Given the description of an element on the screen output the (x, y) to click on. 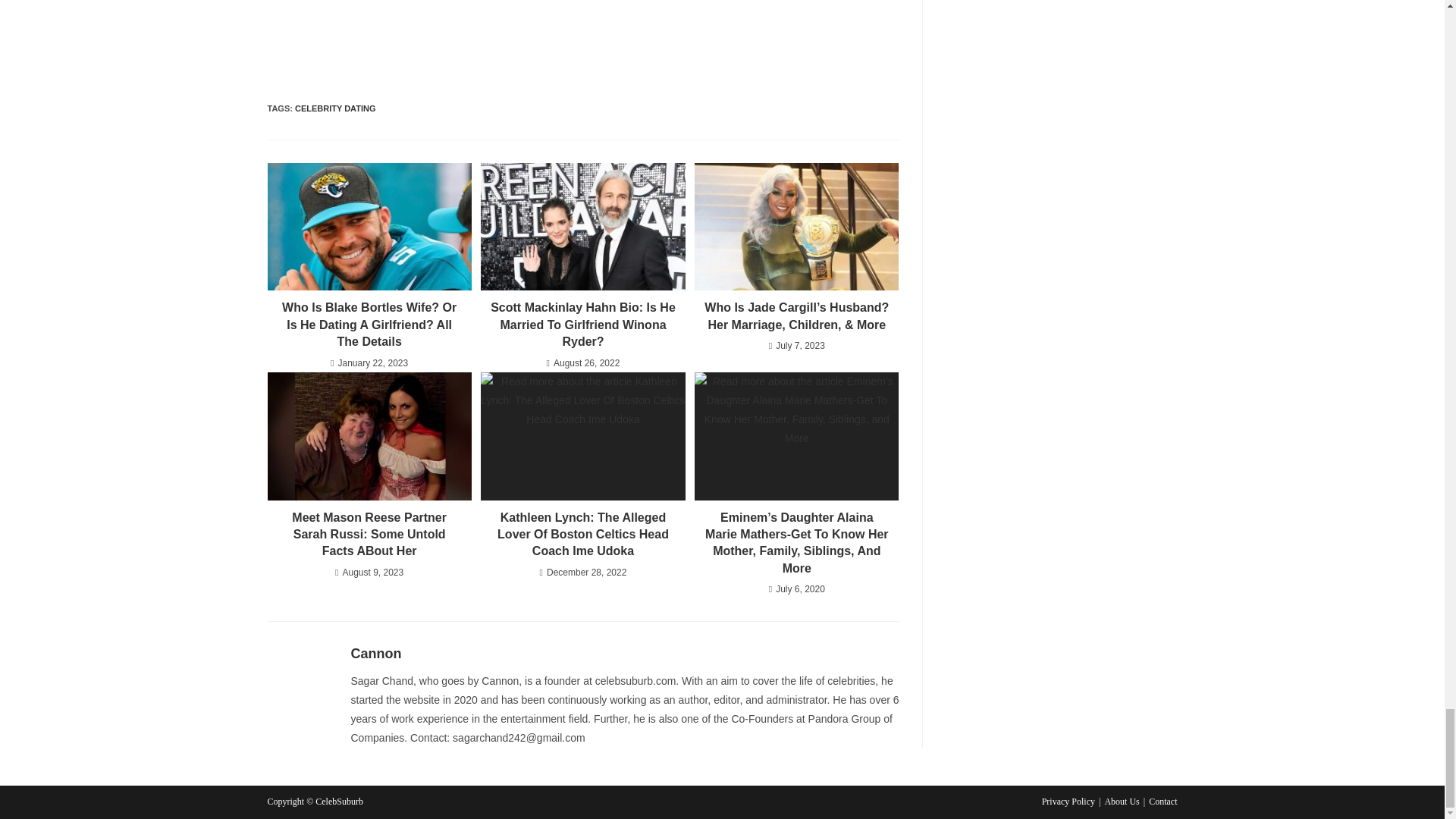
CELEBRITY DATING (335, 108)
Visit author page (375, 653)
